Given the description of an element on the screen output the (x, y) to click on. 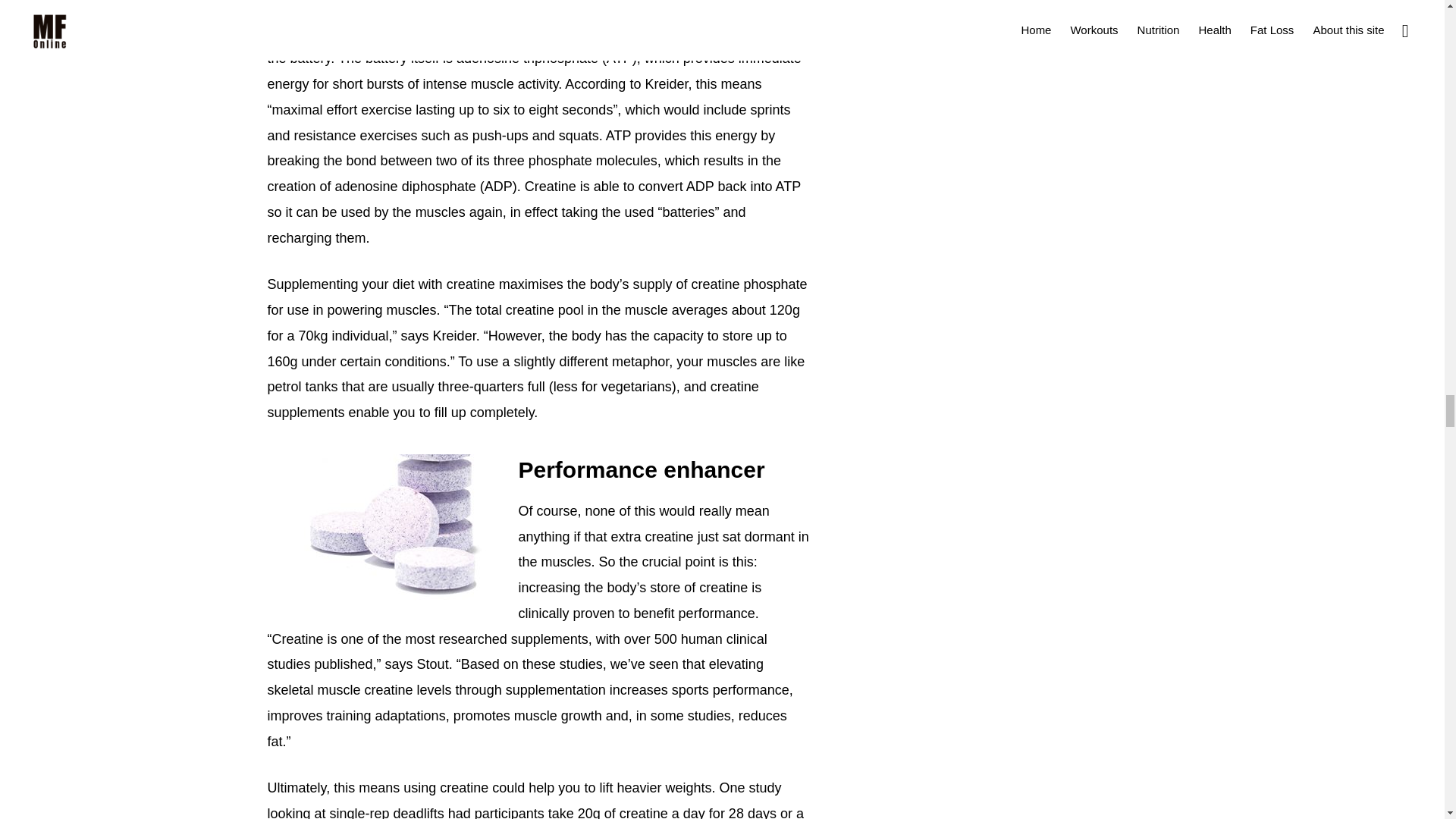
295x198 creatine in the dock (378, 529)
